Given the description of an element on the screen output the (x, y) to click on. 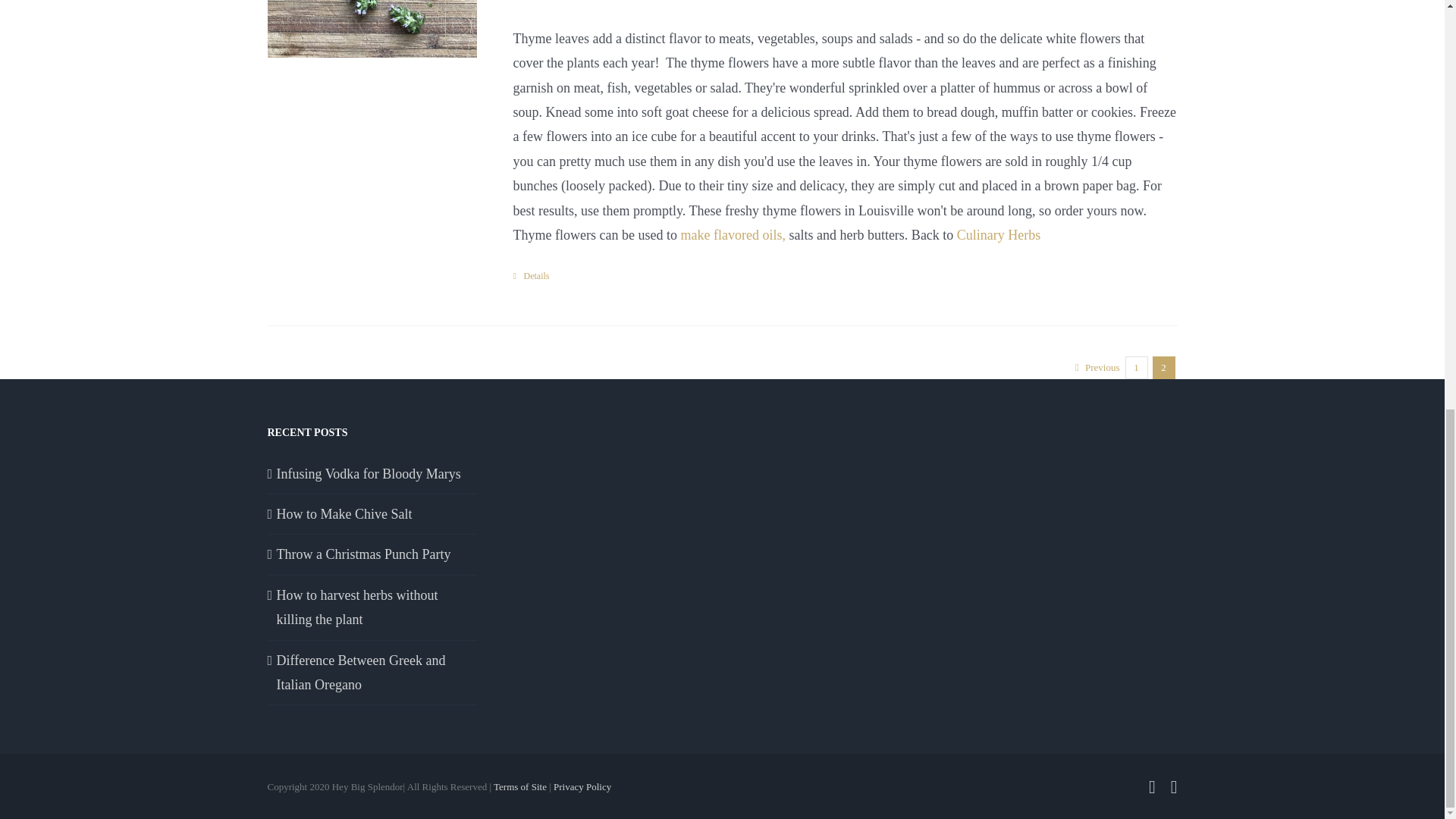
make flavored oils, (731, 234)
Culinary Herbs (998, 234)
Out of stock (371, 28)
